Given the description of an element on the screen output the (x, y) to click on. 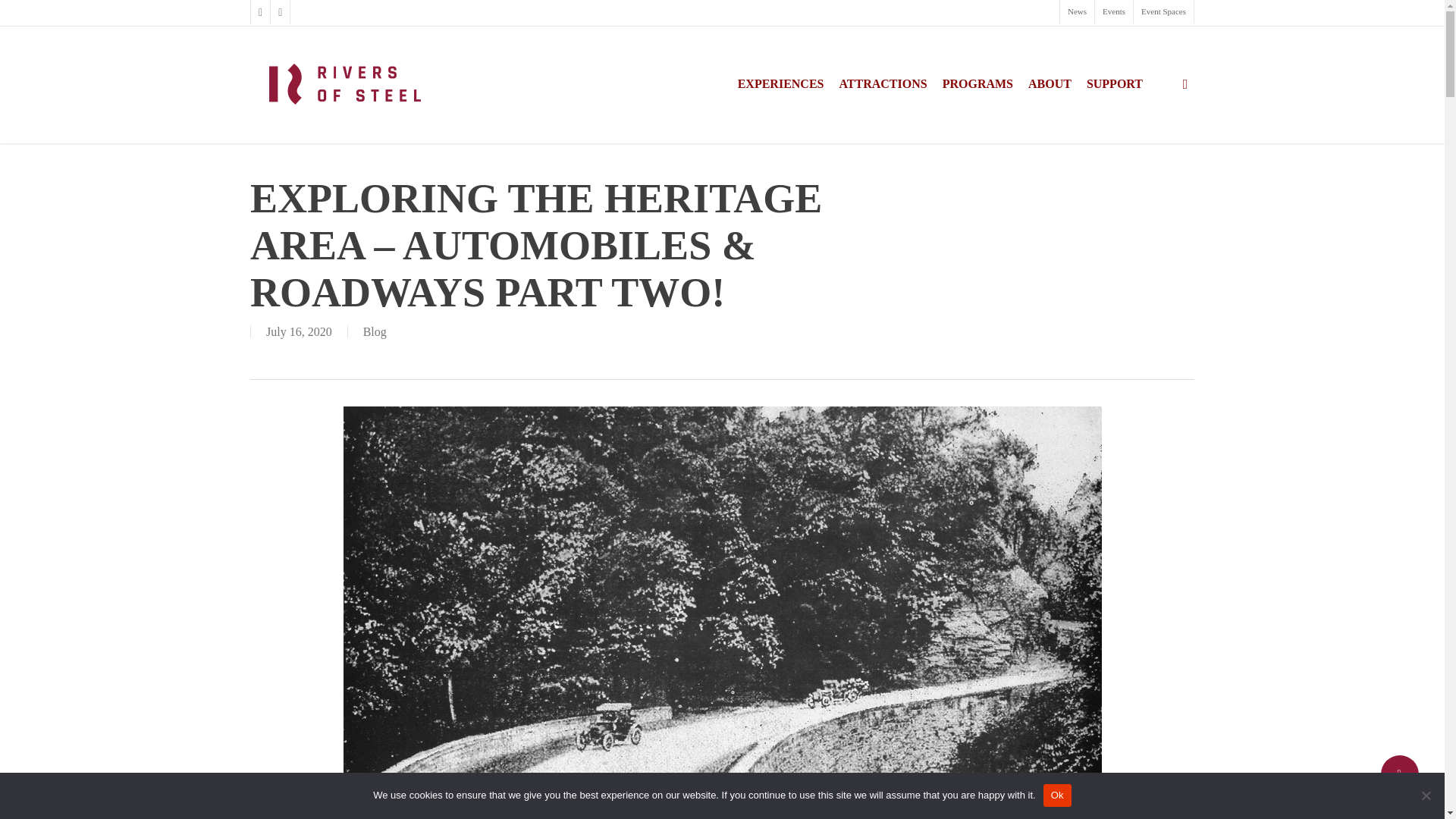
News (1076, 11)
No (1425, 795)
ATTRACTIONS (882, 83)
Events (1113, 11)
EXPERIENCES (781, 83)
Event Spaces (1162, 11)
